Given the description of an element on the screen output the (x, y) to click on. 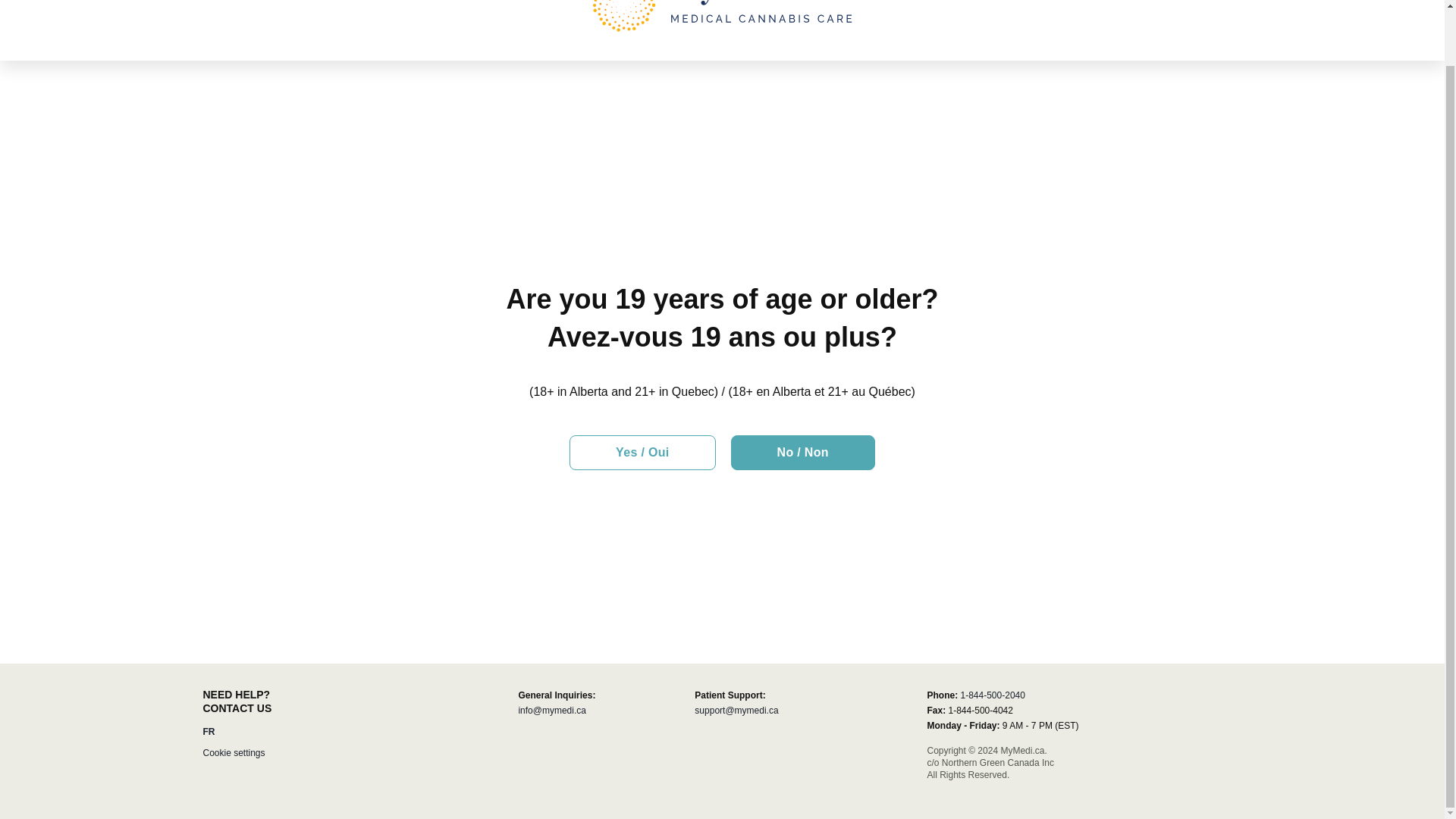
1-844-500-2040 (992, 695)
FR (209, 731)
Cookie settings (233, 752)
